Given the description of an element on the screen output the (x, y) to click on. 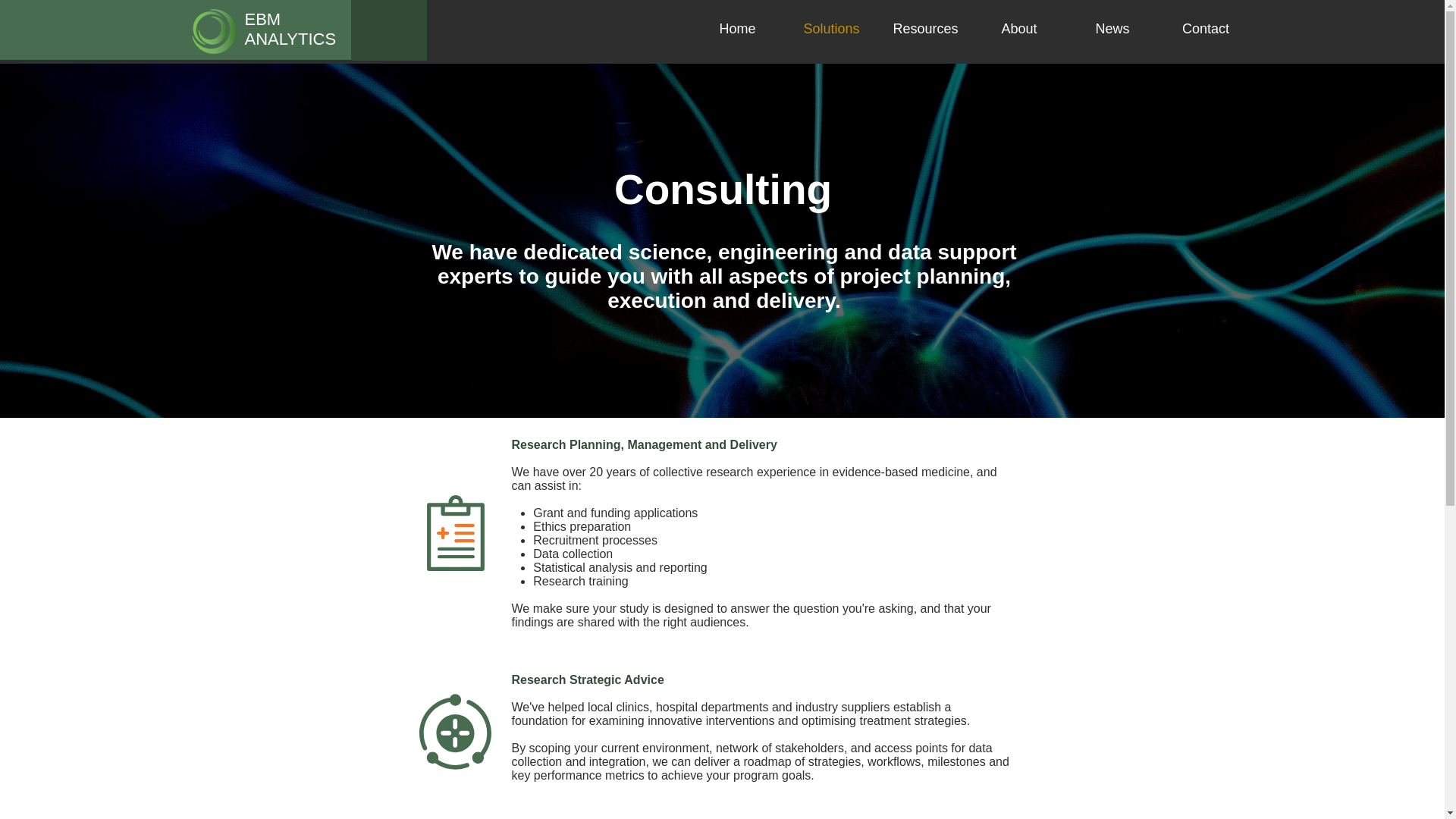
Home (738, 28)
News (1111, 28)
Solutions (831, 28)
EBM (262, 18)
Contact (1205, 28)
About (1019, 28)
Resources (925, 28)
ANALYTICS (290, 38)
